Given the description of an element on the screen output the (x, y) to click on. 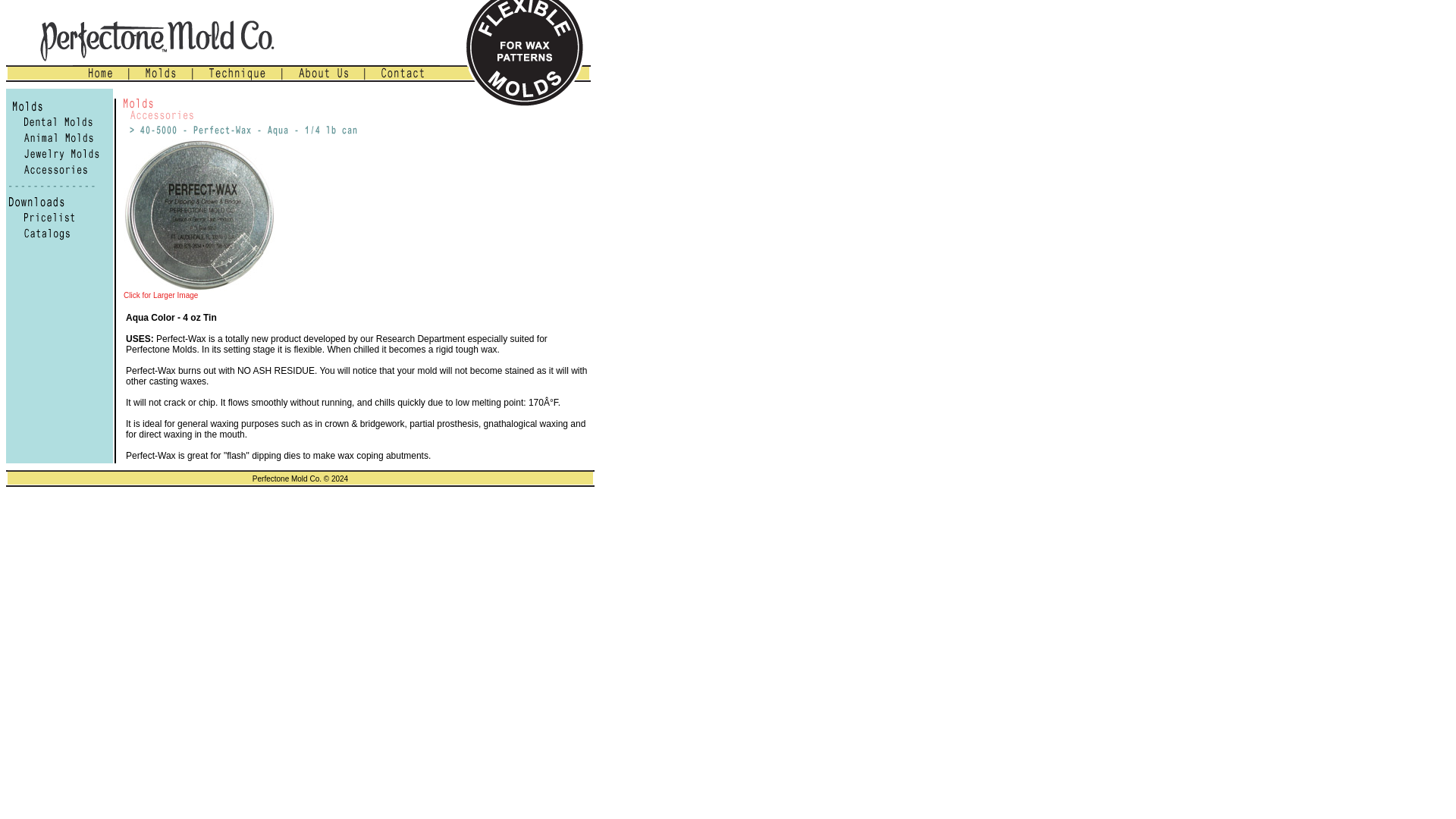
Click for Larger Image (160, 295)
